Given the description of an element on the screen output the (x, y) to click on. 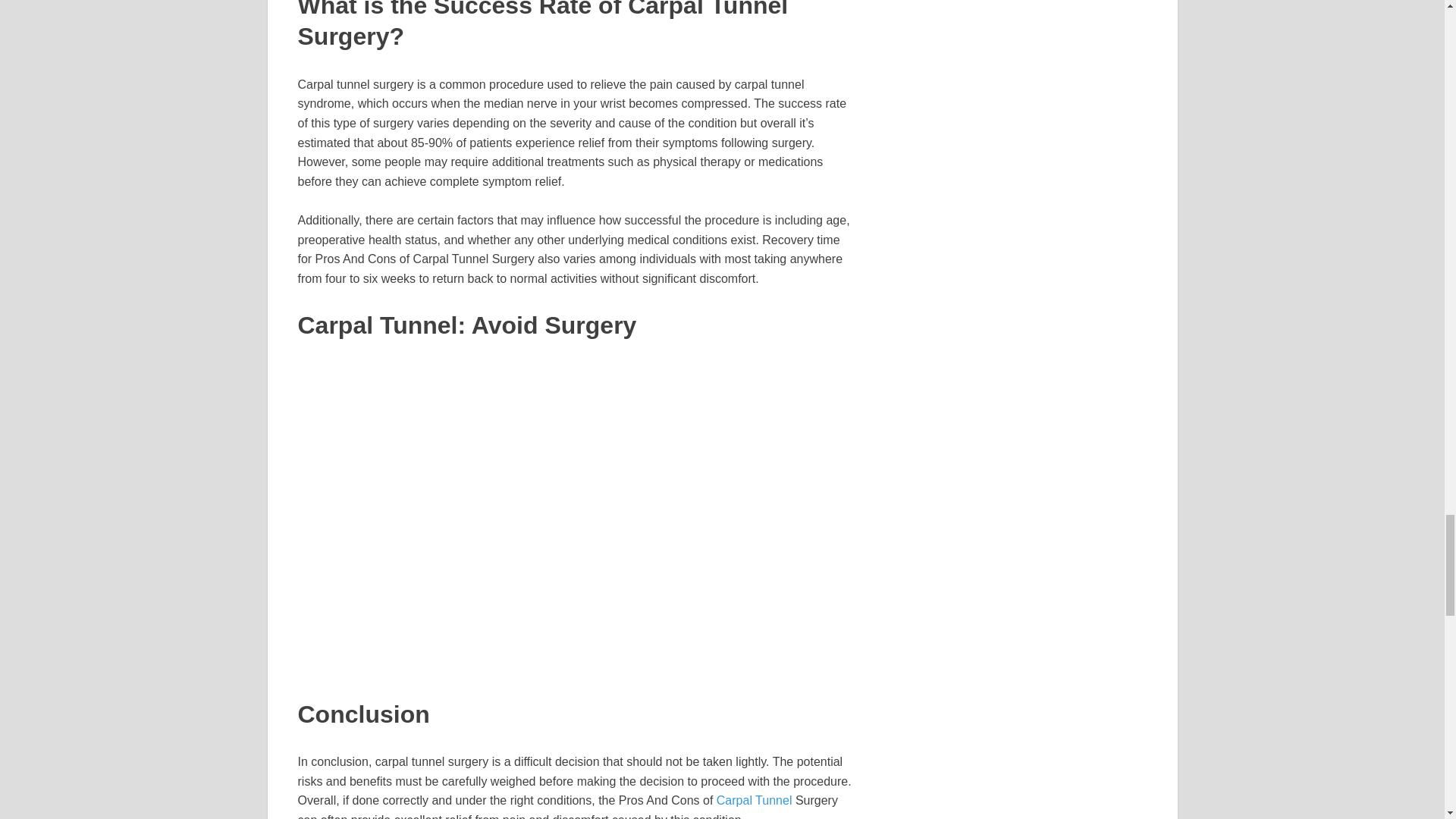
Carpal Tunnel (754, 799)
